Given the description of an element on the screen output the (x, y) to click on. 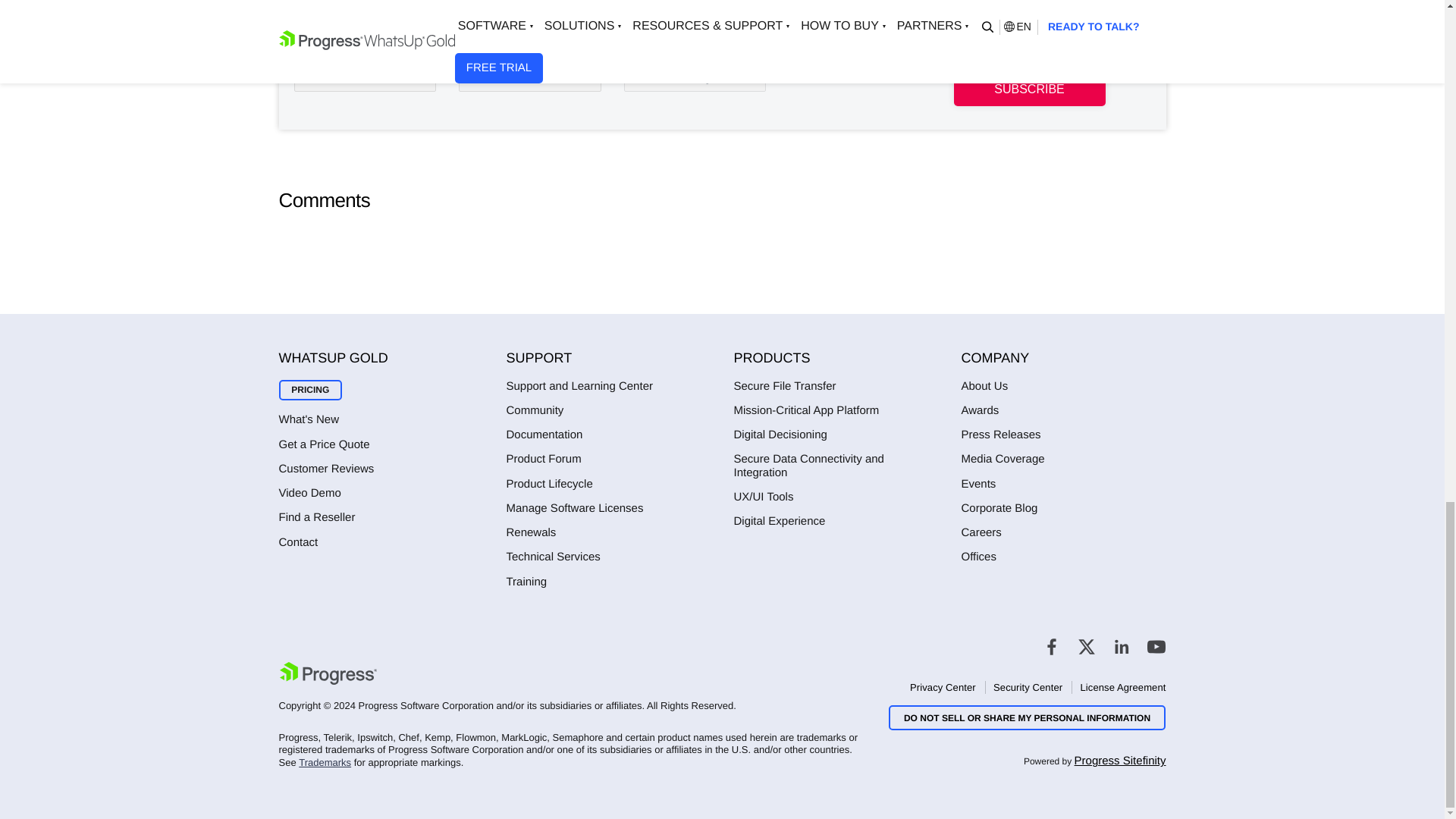
X (1086, 647)
youtube (1156, 647)
facebook (1051, 647)
linkedin (1121, 647)
